Given the description of an element on the screen output the (x, y) to click on. 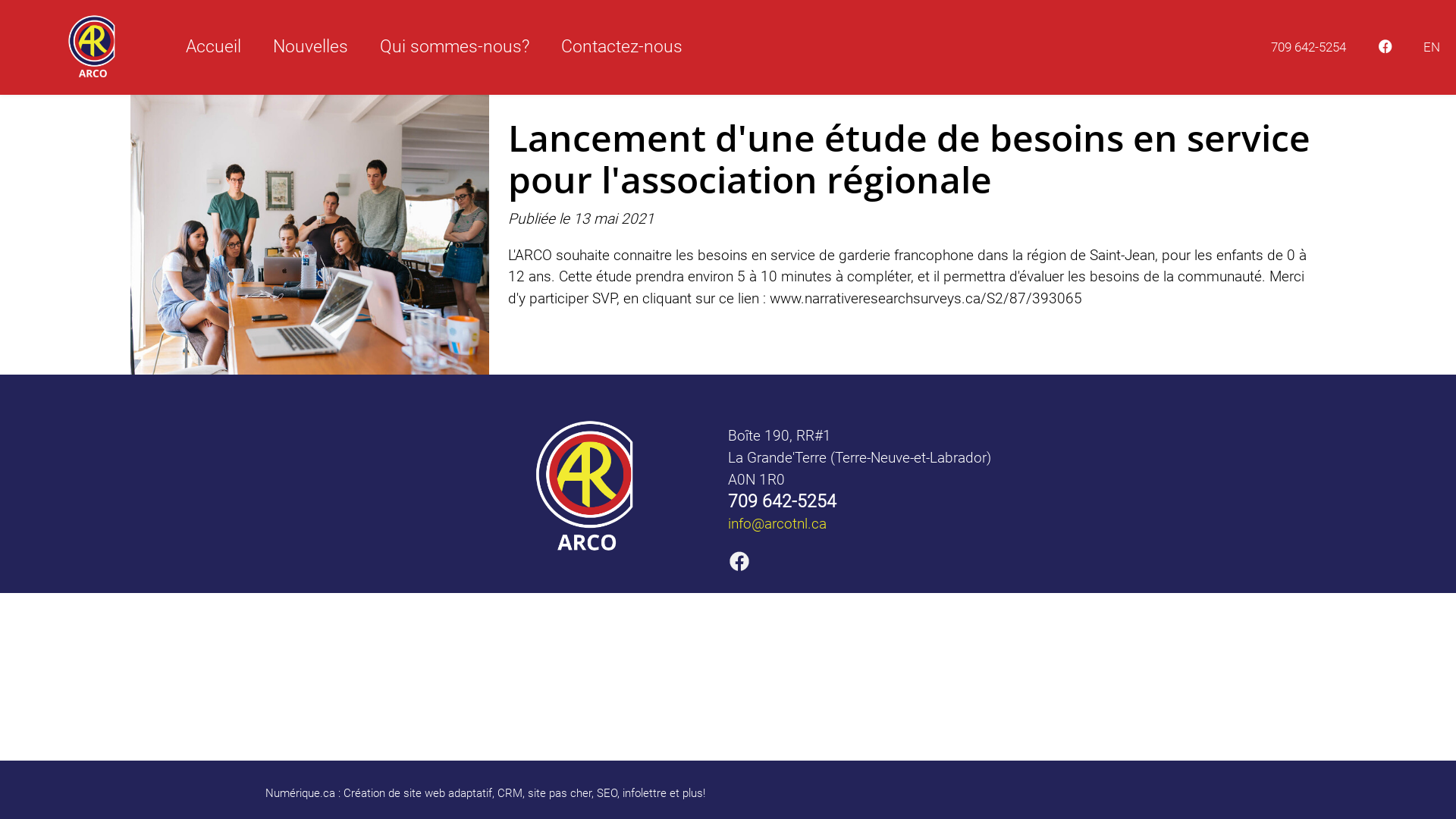
Contactez-nous Element type: text (621, 47)
SEO Element type: text (606, 793)
Nouvelles Element type: text (310, 47)
CRM Element type: text (509, 793)
infolettre Element type: text (644, 793)
709 642-5254 Element type: text (1308, 46)
site web adaptatif Element type: text (447, 793)
info@arcotnl.ca Element type: text (777, 523)
Qui sommes-nous? Element type: text (454, 47)
site pas cher Element type: text (559, 793)
Accueil Element type: text (213, 47)
